Given the description of an element on the screen output the (x, y) to click on. 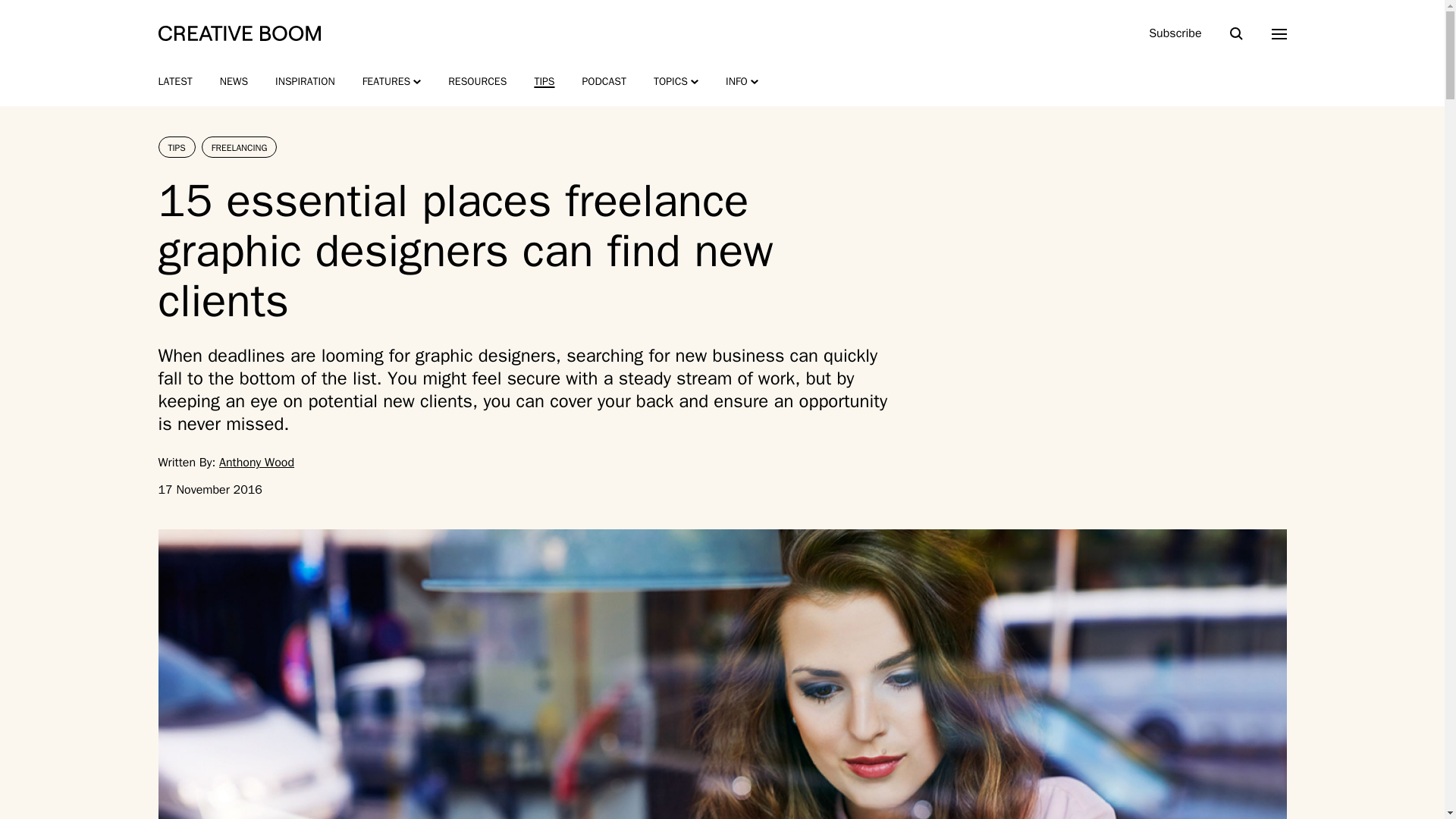
LATEST (174, 81)
TOPICS (675, 81)
Subscribe (1174, 33)
RESOURCES (477, 81)
INSPIRATION (304, 81)
INFO (741, 81)
TIPS (544, 81)
PODCAST (604, 81)
NEWS (233, 81)
FEATURES (392, 81)
